Given the description of an element on the screen output the (x, y) to click on. 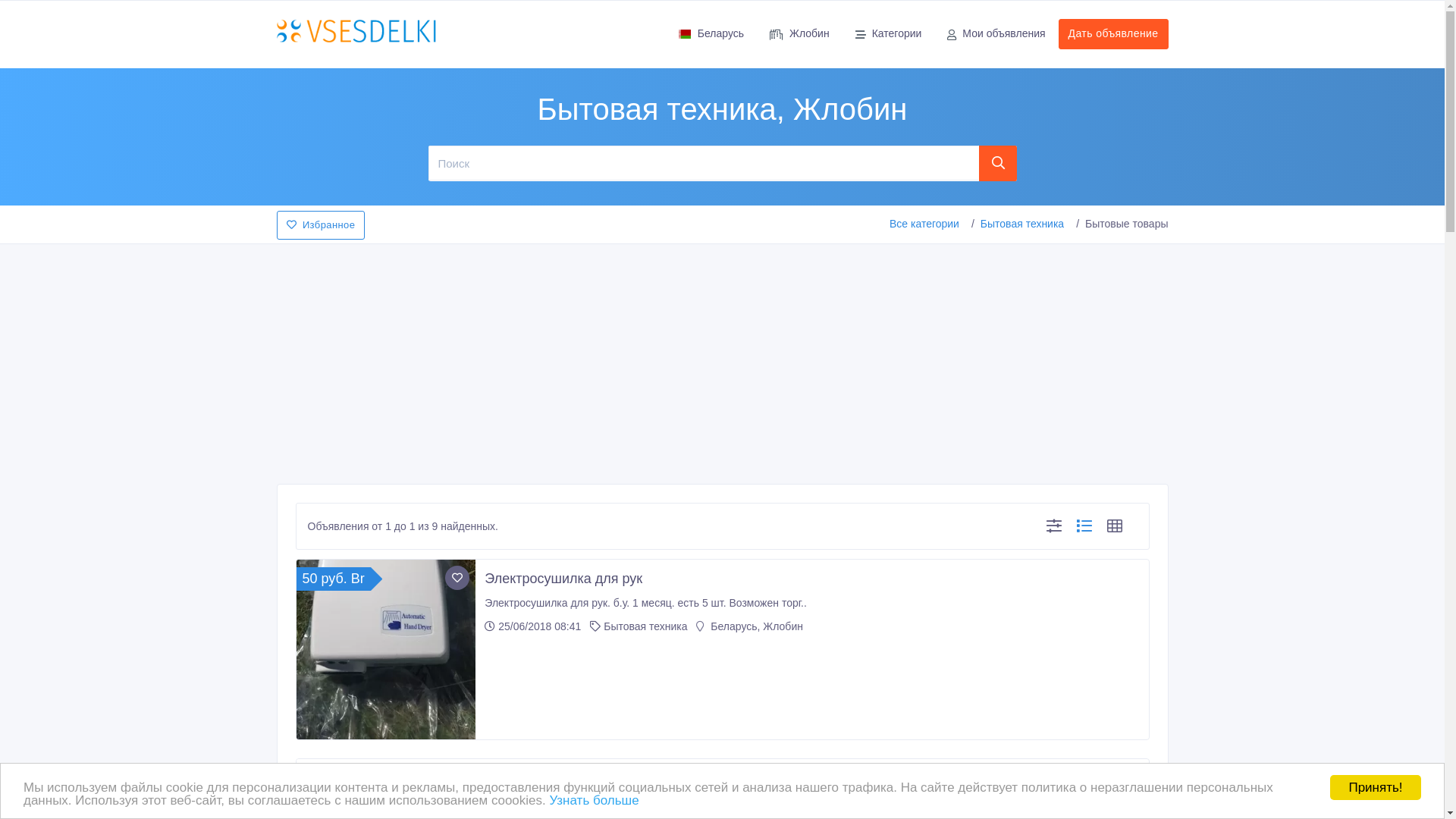
Advertisement Element type: hover (721, 359)
Add to favorite Element type: hover (457, 577)
Add to favorite Element type: hover (457, 777)
